Given the description of an element on the screen output the (x, y) to click on. 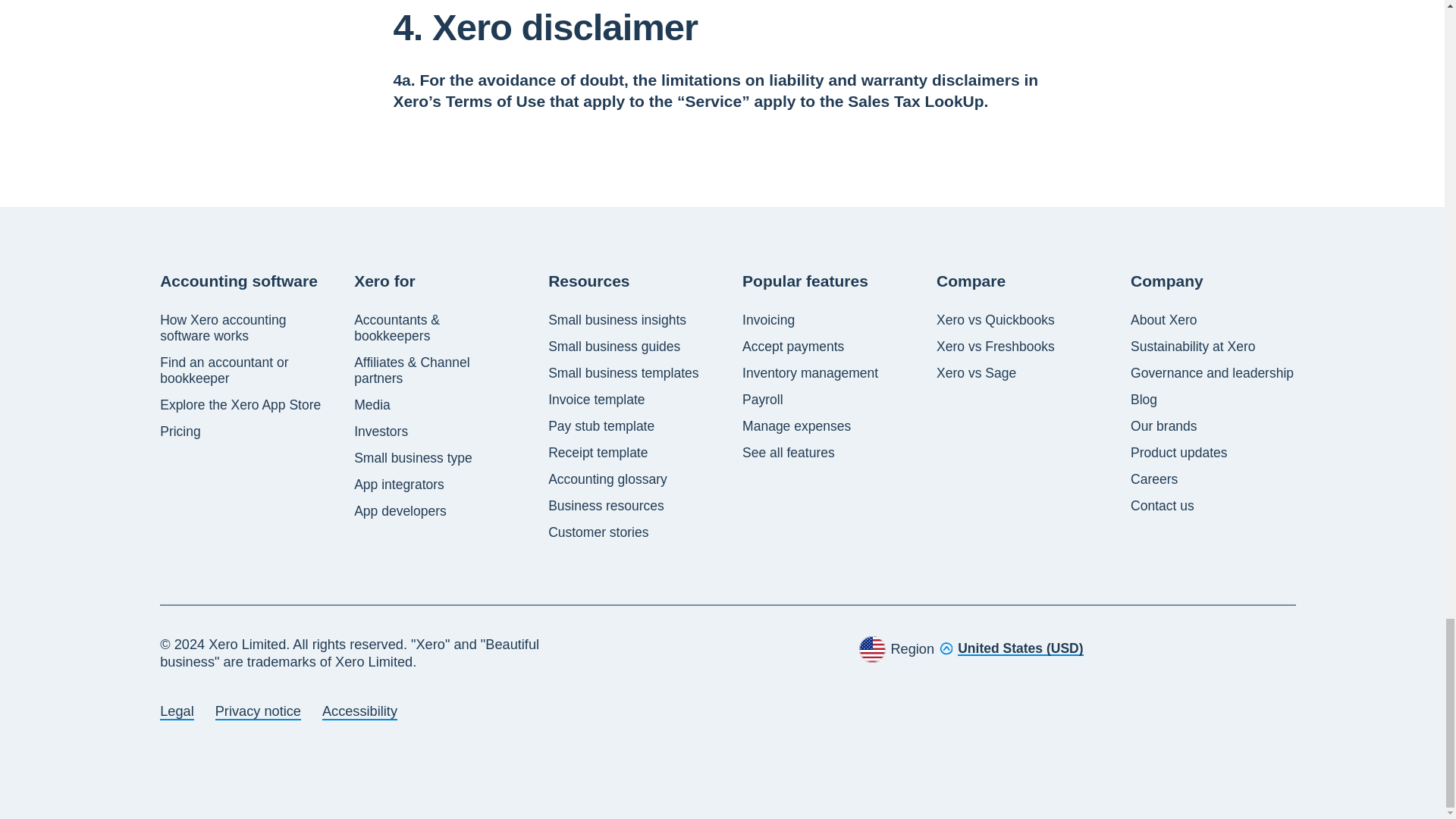
Business resources (605, 505)
Pay stub template (600, 426)
Small business type (412, 458)
Small business templates (623, 373)
Find an accountant or bookkeeper (242, 370)
App integrators (398, 484)
Invoice template (596, 399)
Small business guides (613, 346)
Accounting glossary (607, 479)
How Xero accounting software works (242, 327)
